Given the description of an element on the screen output the (x, y) to click on. 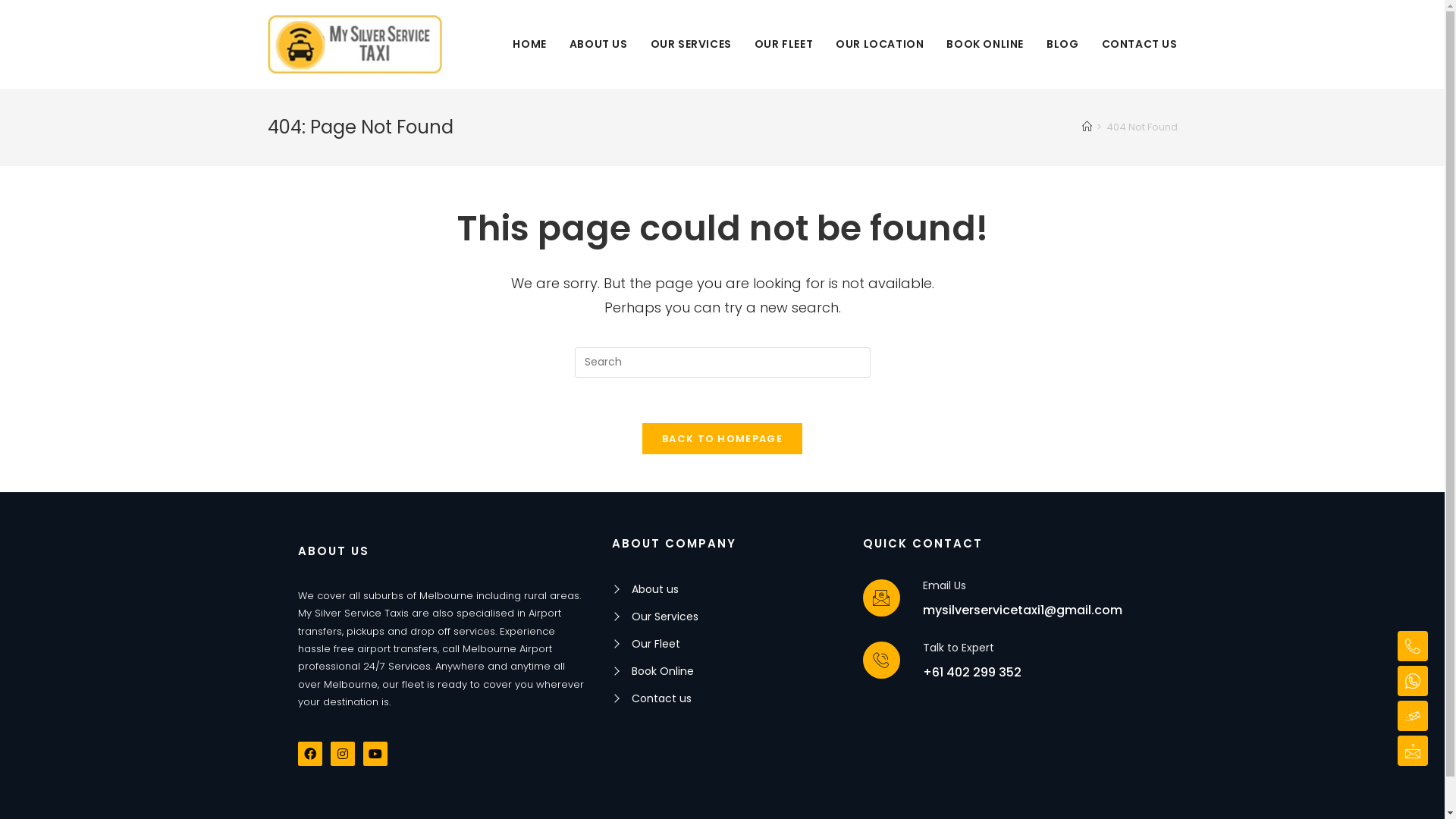
Our Fleet Element type: text (737, 643)
HOME Element type: text (529, 44)
BLOG Element type: text (1062, 44)
OUR LOCATION Element type: text (879, 44)
About us Element type: text (737, 589)
OUR SERVICES Element type: text (691, 44)
Book Online Element type: text (737, 670)
Our Services Element type: text (737, 616)
OUR FLEET Element type: text (783, 44)
ABOUT US Element type: text (598, 44)
BACK TO HOMEPAGE Element type: text (722, 438)
BOOK ONLINE Element type: text (985, 44)
CONTACT US Element type: text (1139, 44)
Contact us Element type: text (737, 698)
